Given the description of an element on the screen output the (x, y) to click on. 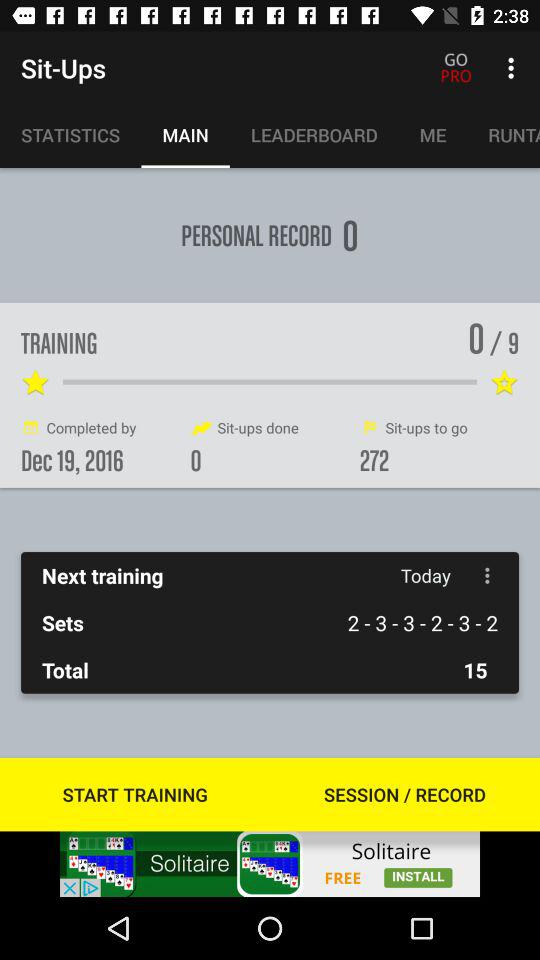
advertisement solitaire app download (270, 864)
